Given the description of an element on the screen output the (x, y) to click on. 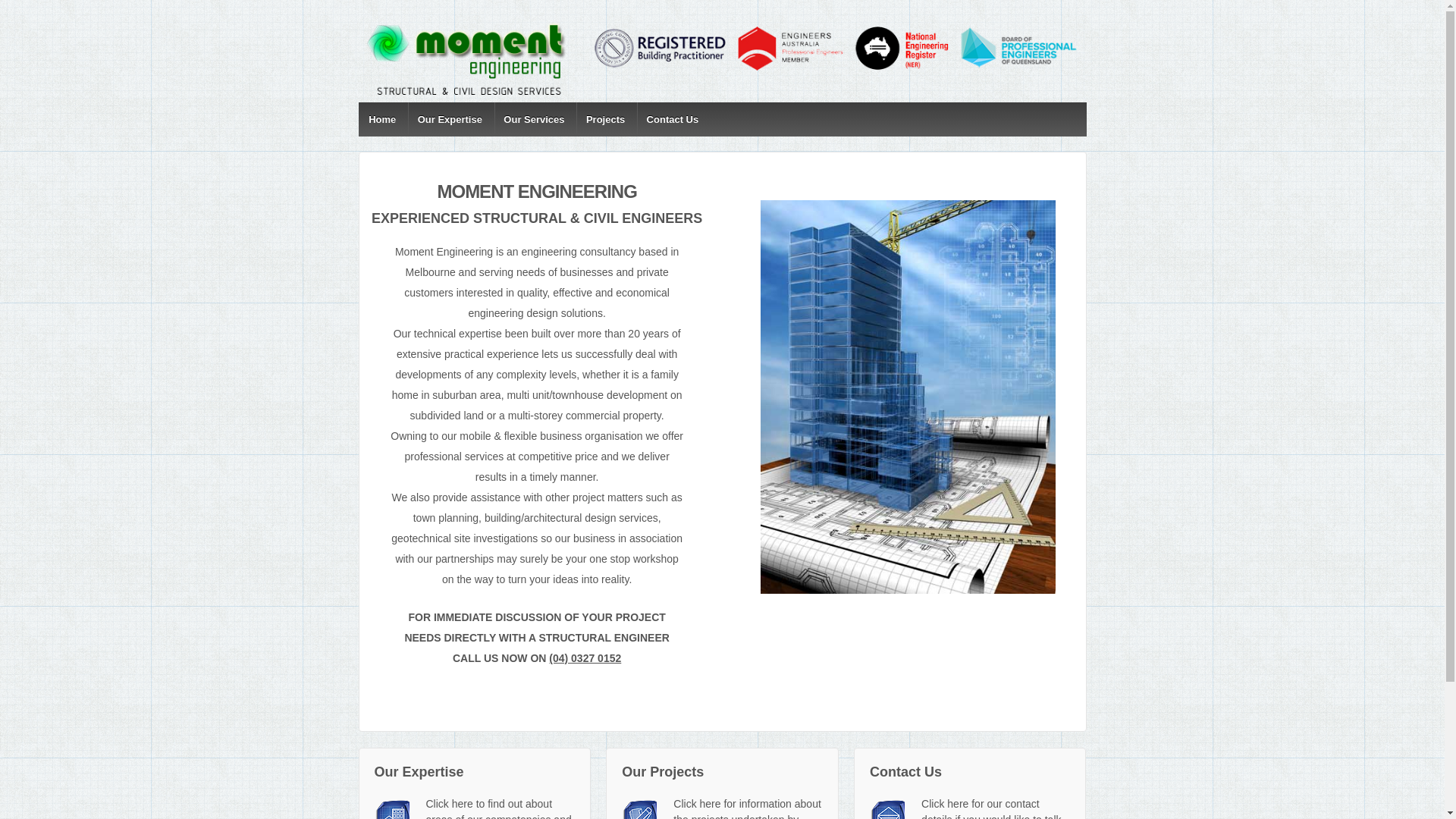
Our Expertise Element type: text (449, 119)
Contact Us Element type: text (672, 119)
Home Element type: text (381, 119)
Projects Element type: text (604, 119)
Our Services Element type: text (534, 119)
